Given the description of an element on the screen output the (x, y) to click on. 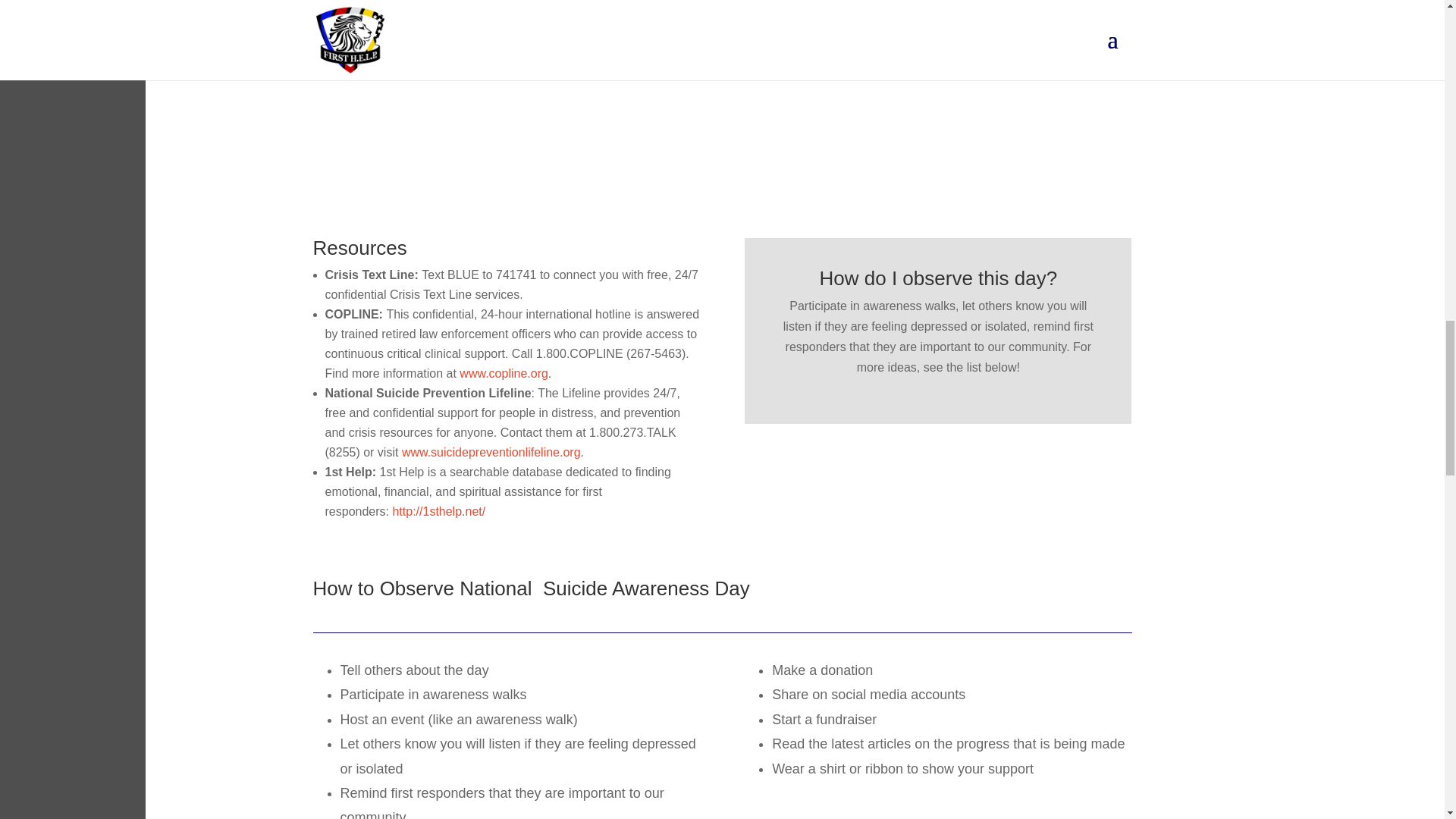
www.suicidepreventionlifeline.org (490, 451)
About Us (722, 196)
www.copline.org (504, 373)
